Given the description of an element on the screen output the (x, y) to click on. 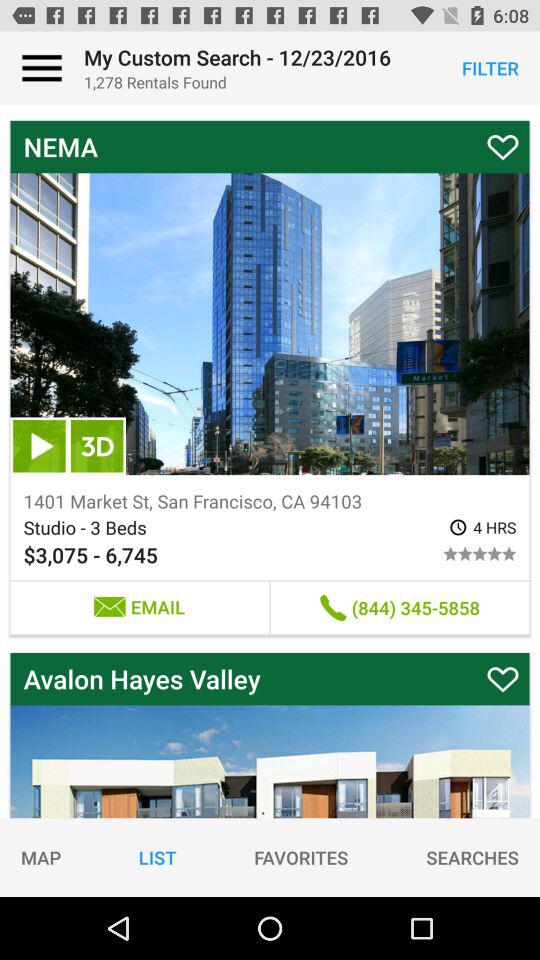
scroll to map item (41, 857)
